Given the description of an element on the screen output the (x, y) to click on. 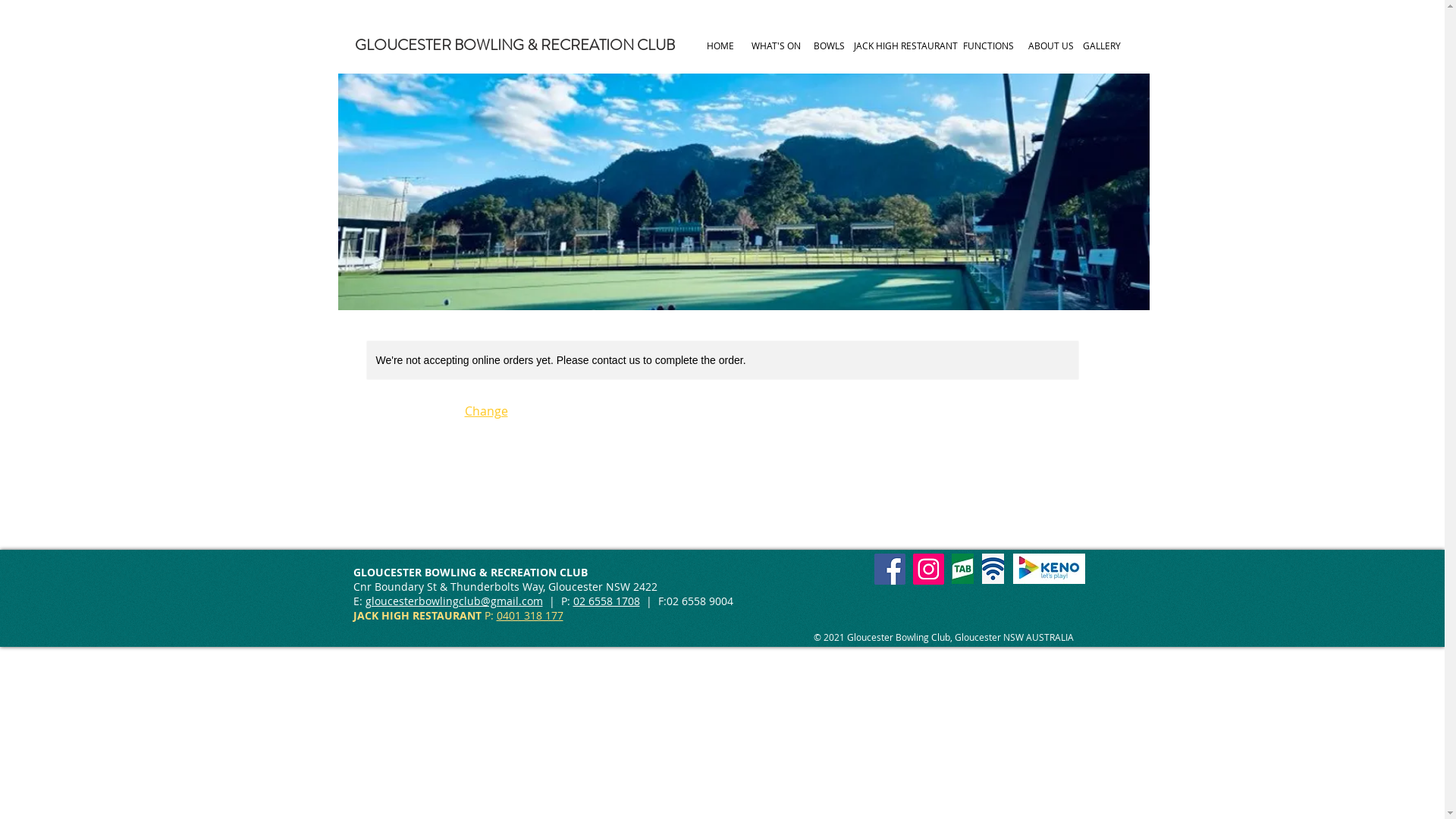
gloucesterbowlingclub@gmail.com Element type: text (453, 600)
GALLERY Element type: text (1102, 46)
02 6558 1708 Element type: text (606, 600)
Change Element type: text (485, 410)
BOWLS Element type: text (829, 46)
FUNCTIONS Element type: text (988, 46)
GLOUCESTER BOWLING & RECREATION CLUB Element type: text (514, 45)
0401 318 177 Element type: text (528, 615)
HOME Element type: text (720, 46)
ABOUT US Element type: text (1050, 46)
WHAT'S ON Element type: text (775, 46)
JACK HIGH RESTAURANT Element type: text (905, 46)
